Given the description of an element on the screen output the (x, y) to click on. 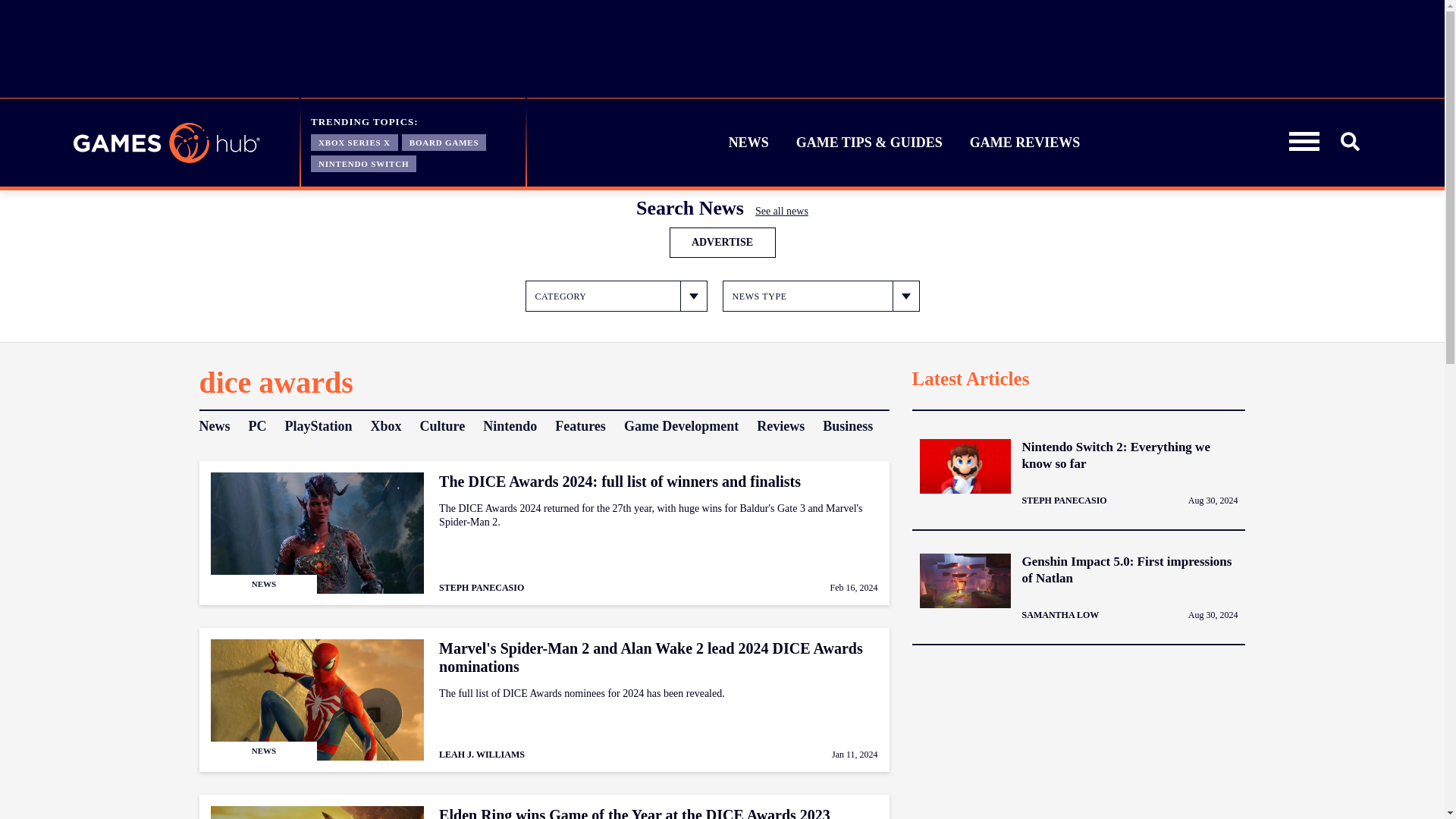
BOARD GAMES (443, 141)
GAME REVIEWS (1025, 142)
XBOX SERIES X (354, 141)
NINTENDO SWITCH (363, 162)
NEWS (748, 142)
